Given the description of an element on the screen output the (x, y) to click on. 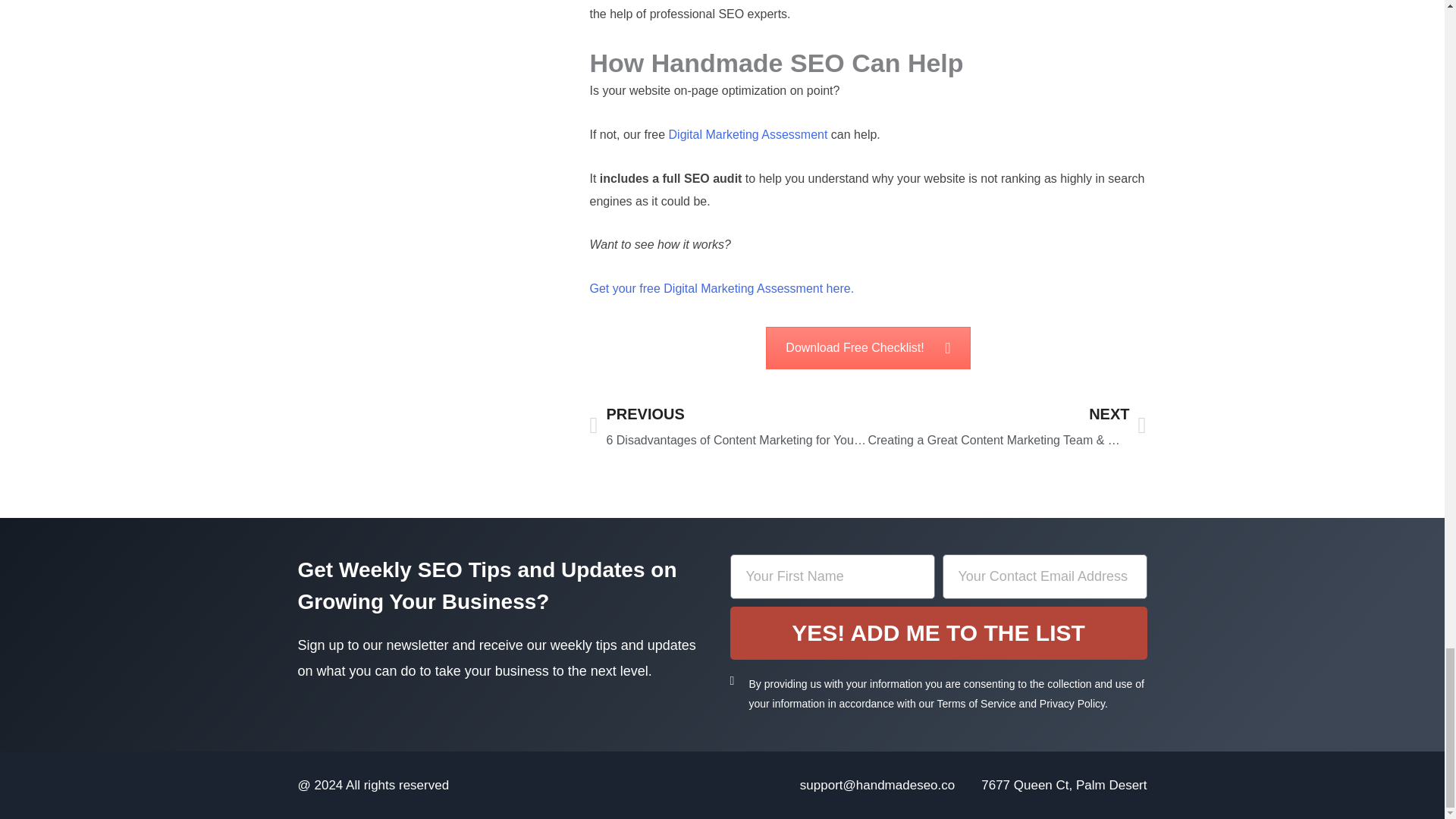
Get your free Digital Marketing Assessment here. (721, 287)
Digital Marketing Assessment (749, 133)
YES! ADD ME TO THE LIST (938, 633)
Download Free Checklist! (867, 347)
